Given the description of an element on the screen output the (x, y) to click on. 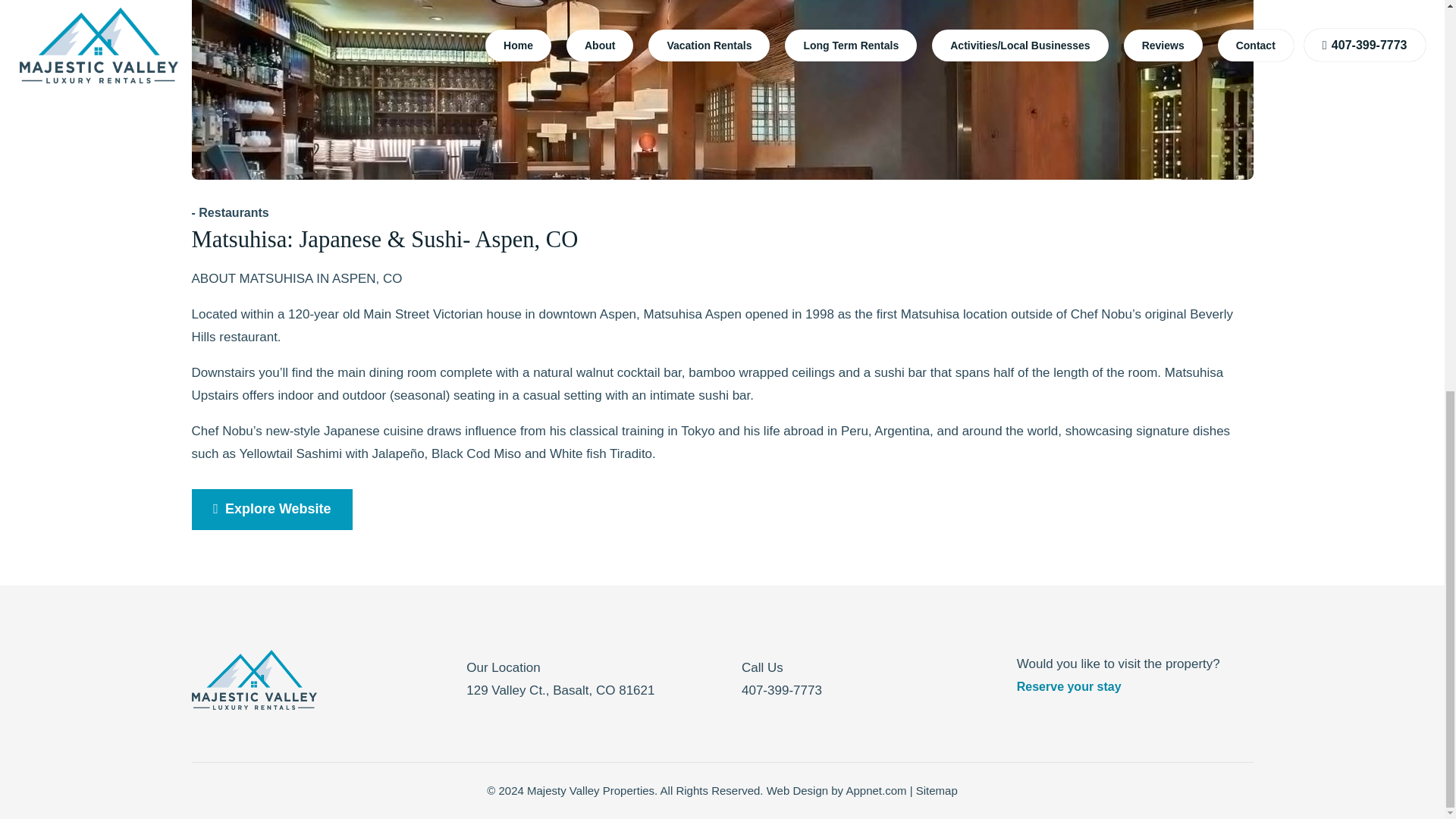
Explore Website (271, 508)
407-399-7773 (781, 690)
Appnet.com (875, 789)
Reserve your stay (1068, 686)
Back to top (1413, 98)
Sitemap (936, 789)
